Given the description of an element on the screen output the (x, y) to click on. 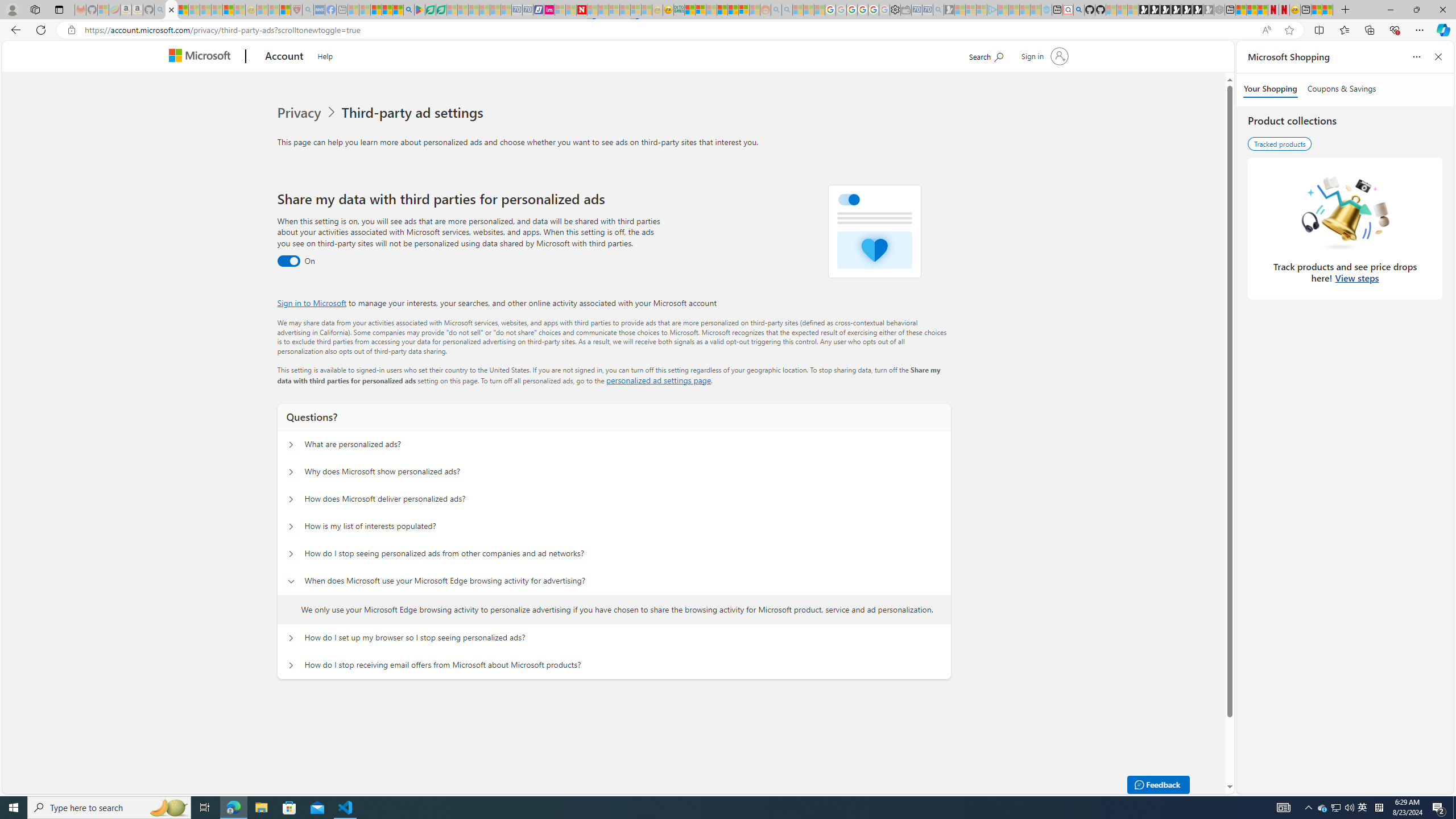
Third-party ad settings (414, 112)
